Given the description of an element on the screen output the (x, y) to click on. 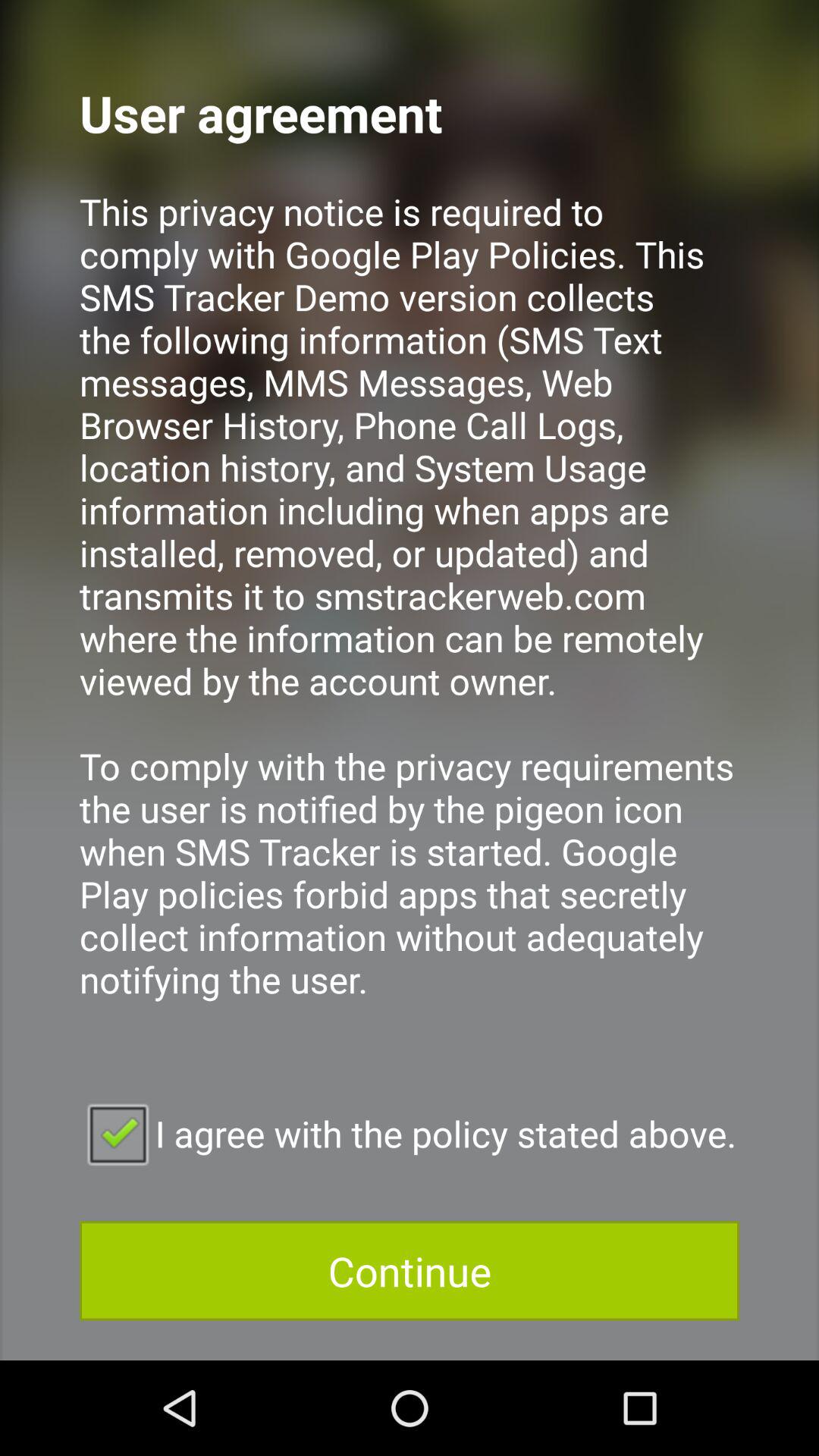
choose icon below user agreement (409, 616)
